Given the description of an element on the screen output the (x, y) to click on. 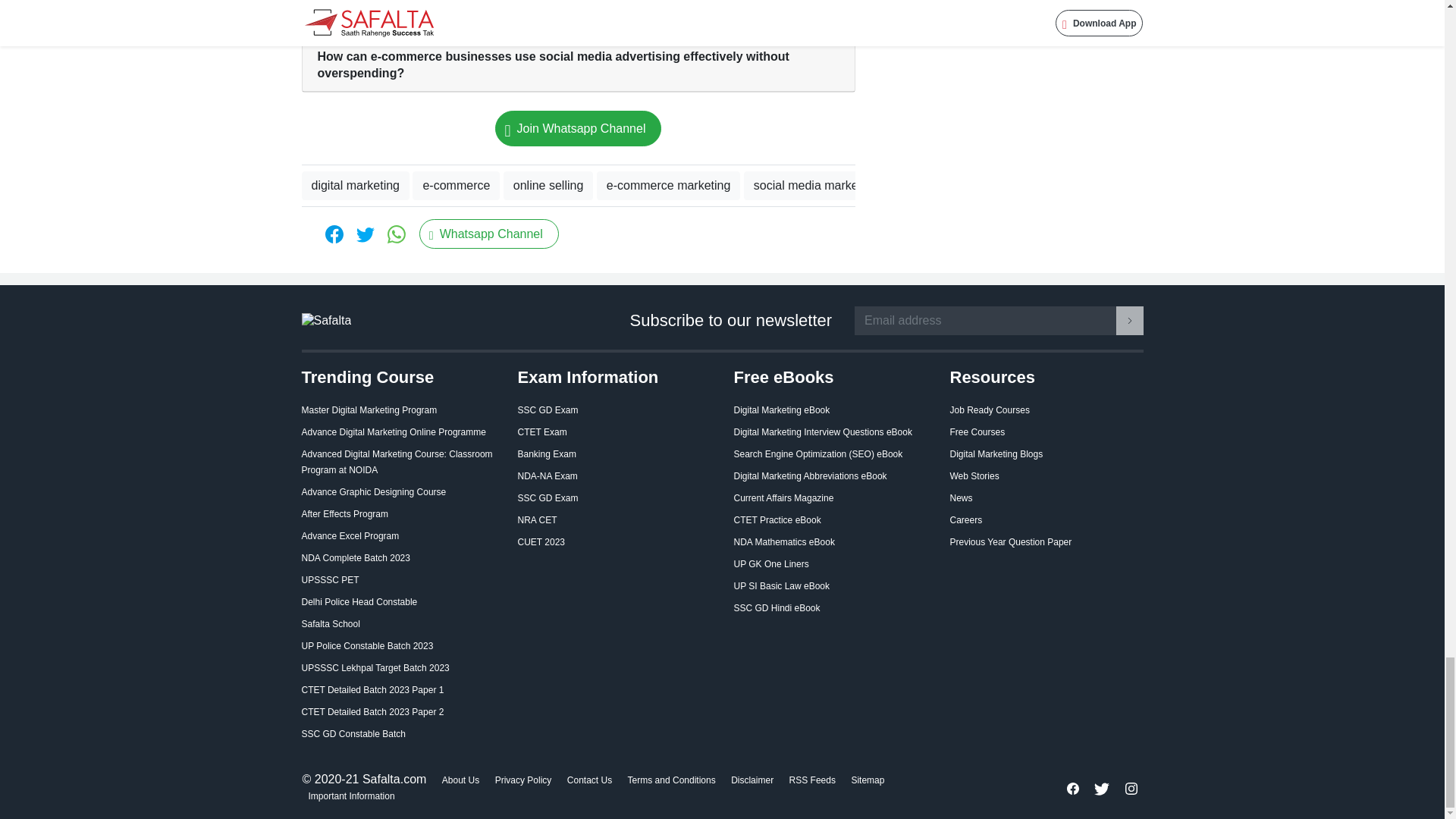
digital marketing (355, 185)
Join Whatsapp Channel (578, 128)
follow our whatsapp channel (578, 128)
follow our whatsapp channel (489, 233)
